Given the description of an element on the screen output the (x, y) to click on. 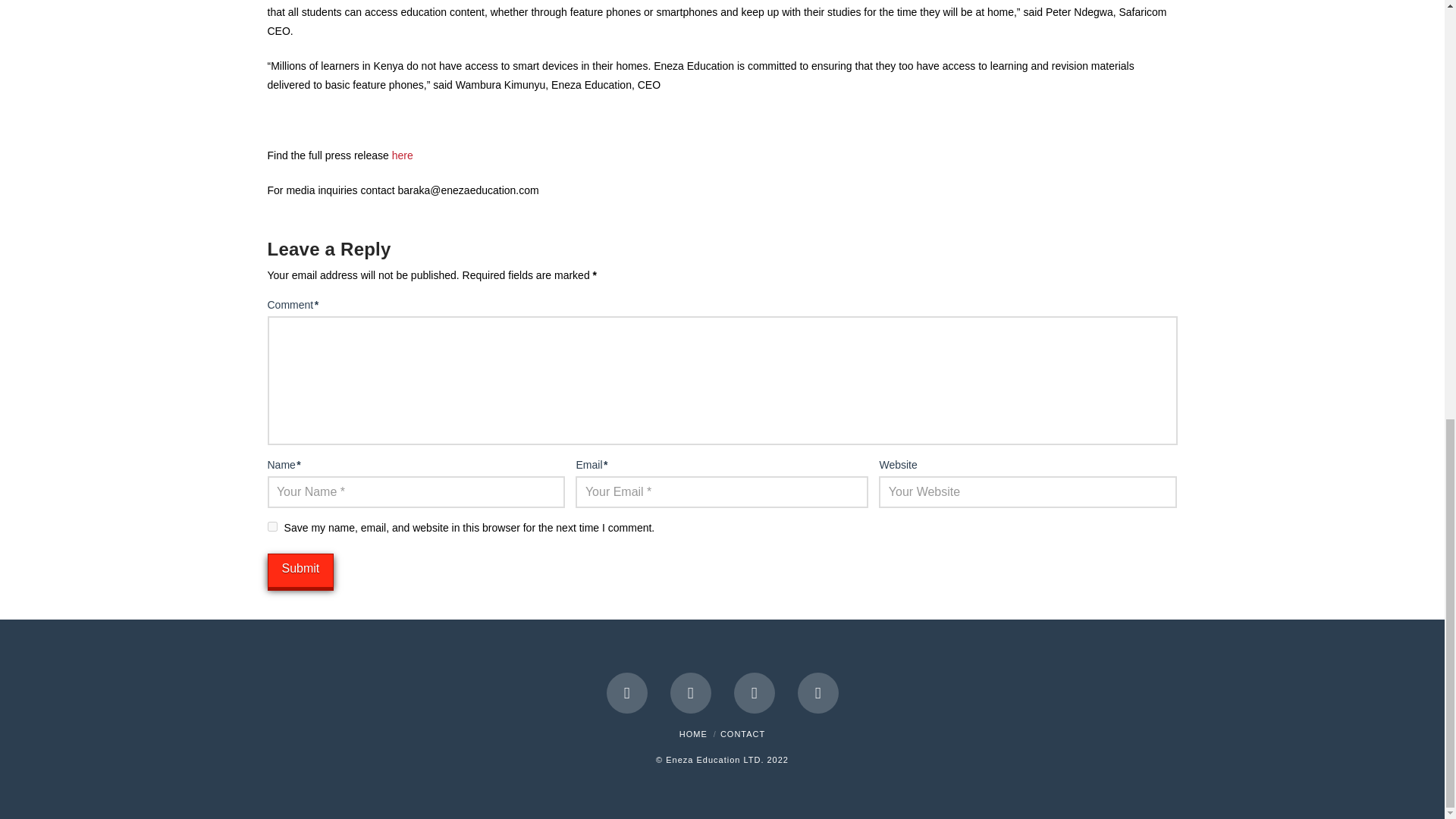
Instagram (817, 692)
Submit (299, 570)
Submit (299, 570)
here (402, 155)
HOME (693, 733)
Facebook (627, 692)
yes (271, 526)
CONTACT (742, 733)
LinkedIn (753, 692)
